Given the description of an element on the screen output the (x, y) to click on. 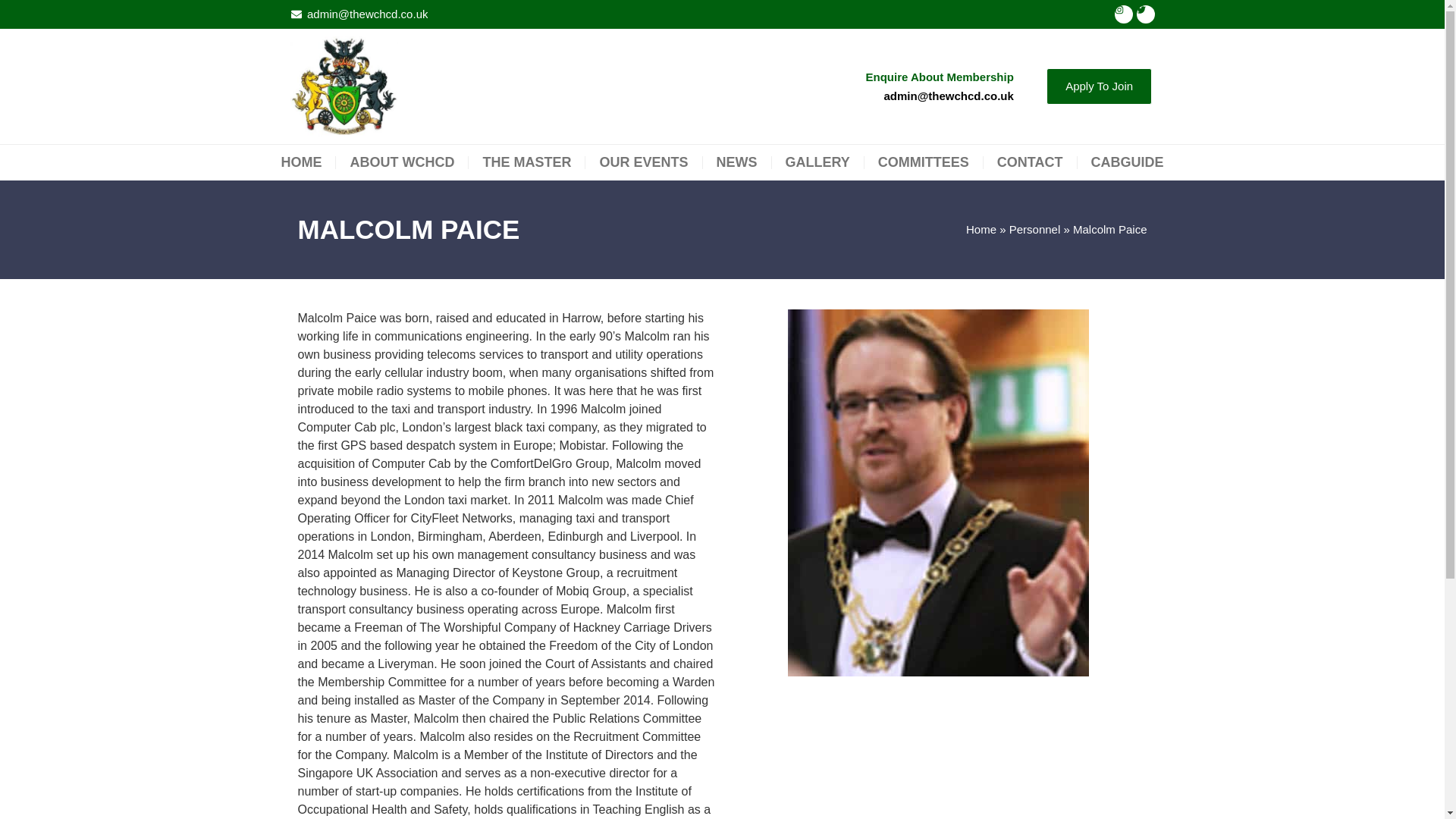
Apply To Join (1098, 86)
